Given the description of an element on the screen output the (x, y) to click on. 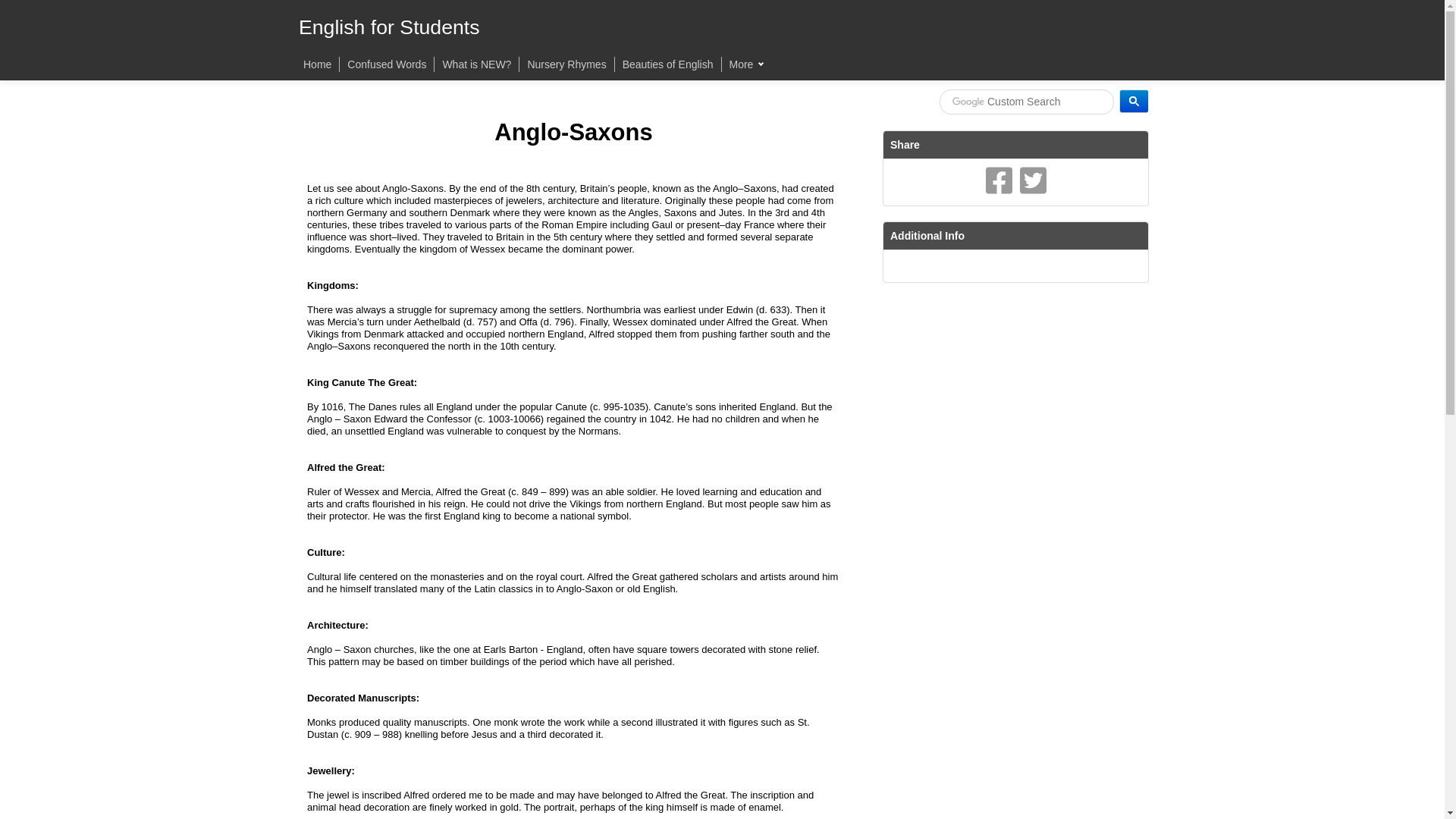
What is NEW? (476, 64)
More (745, 64)
Nursery Rhymes (566, 64)
English for Students (389, 26)
Confused Words (386, 64)
Home (316, 64)
search (1026, 101)
Beauties of English (668, 64)
search (1133, 101)
